Given the description of an element on the screen output the (x, y) to click on. 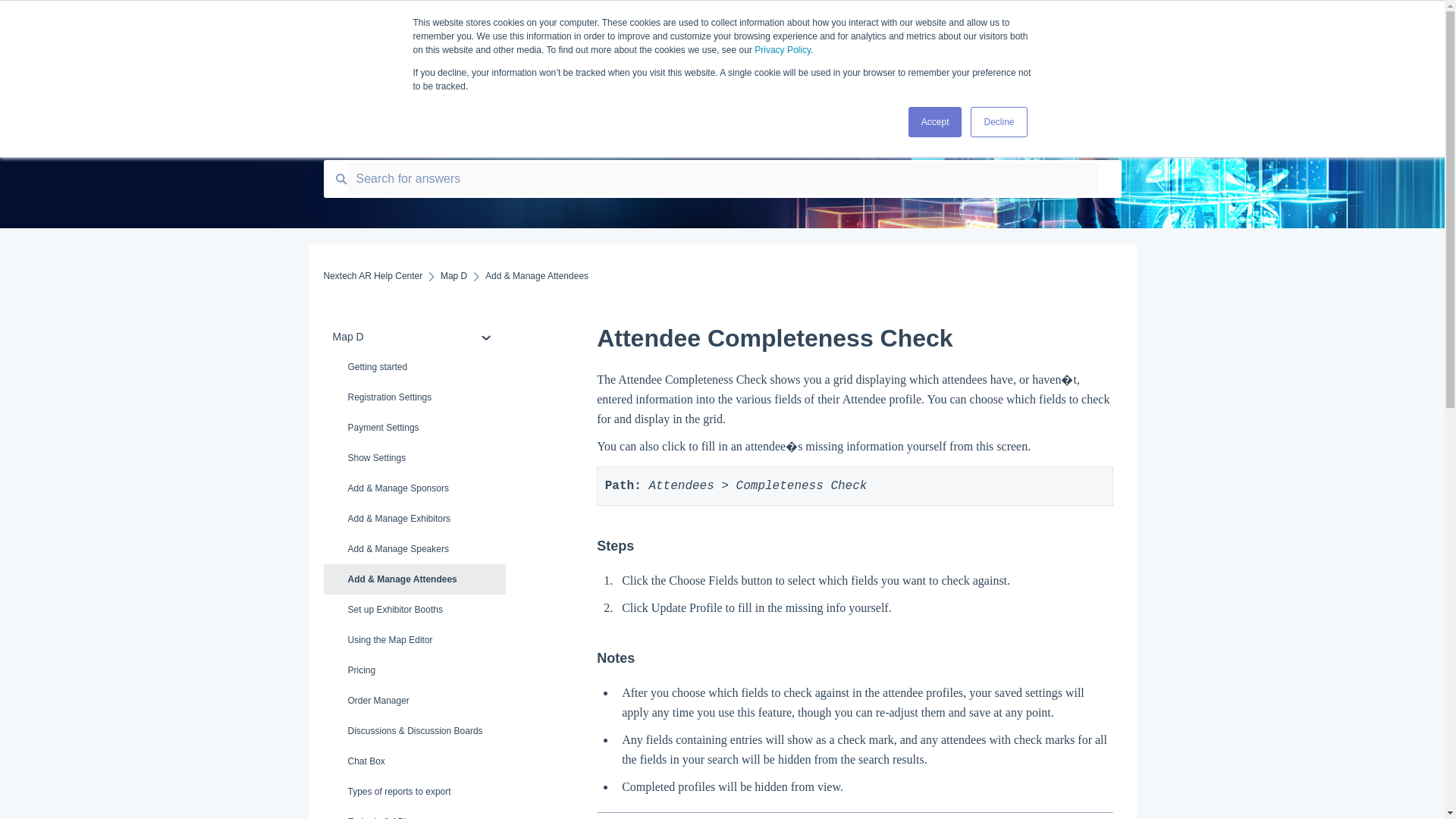
Nextech AR Help Center (661, 21)
Nextech AR Help Center (372, 276)
Accept (935, 122)
Decline (998, 122)
Contact us (1084, 25)
Privacy Policy (782, 50)
Go to nextechar.com (980, 25)
